Given the description of an element on the screen output the (x, y) to click on. 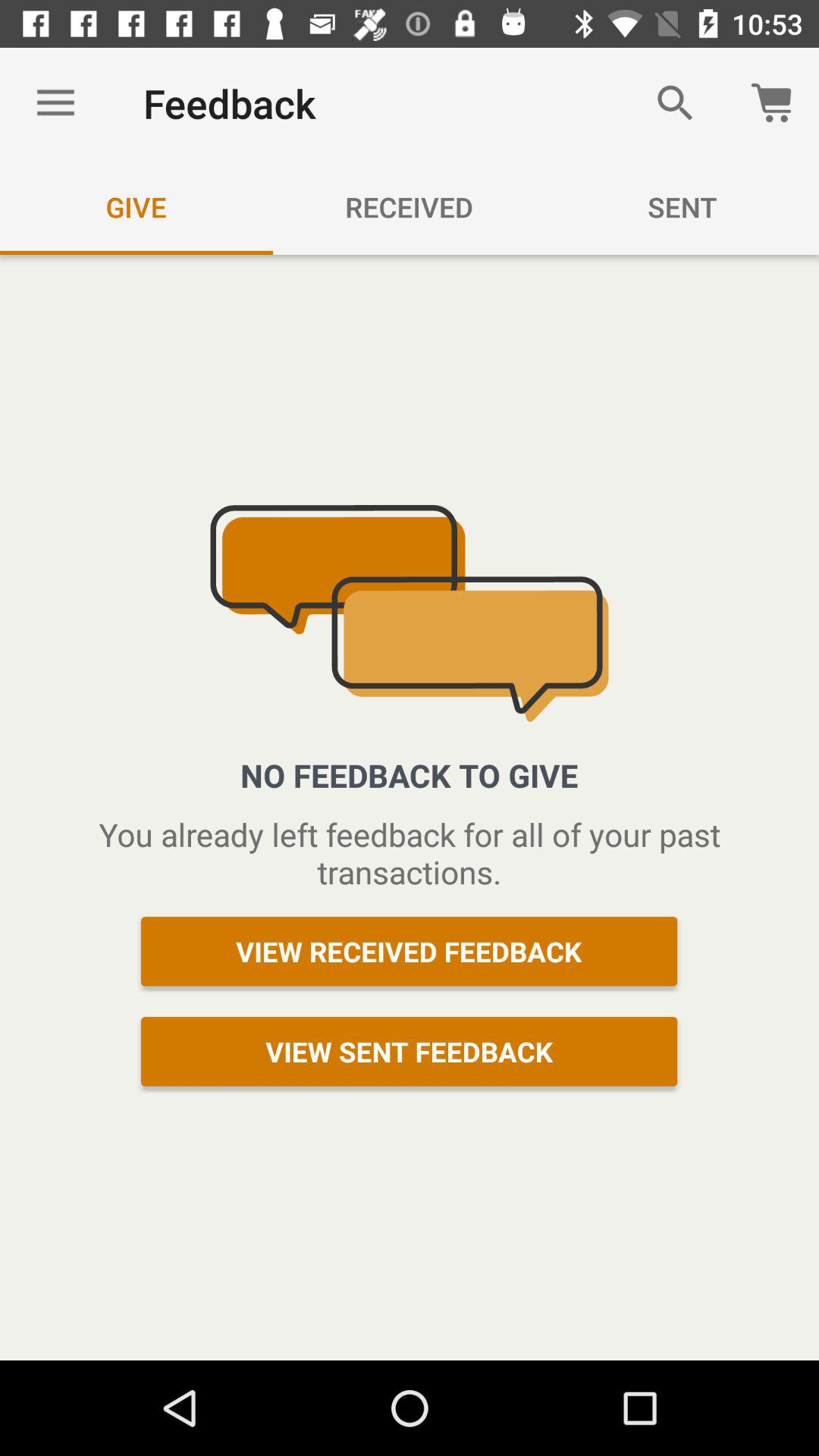
turn off the icon to the right of the feedback (675, 103)
